Given the description of an element on the screen output the (x, y) to click on. 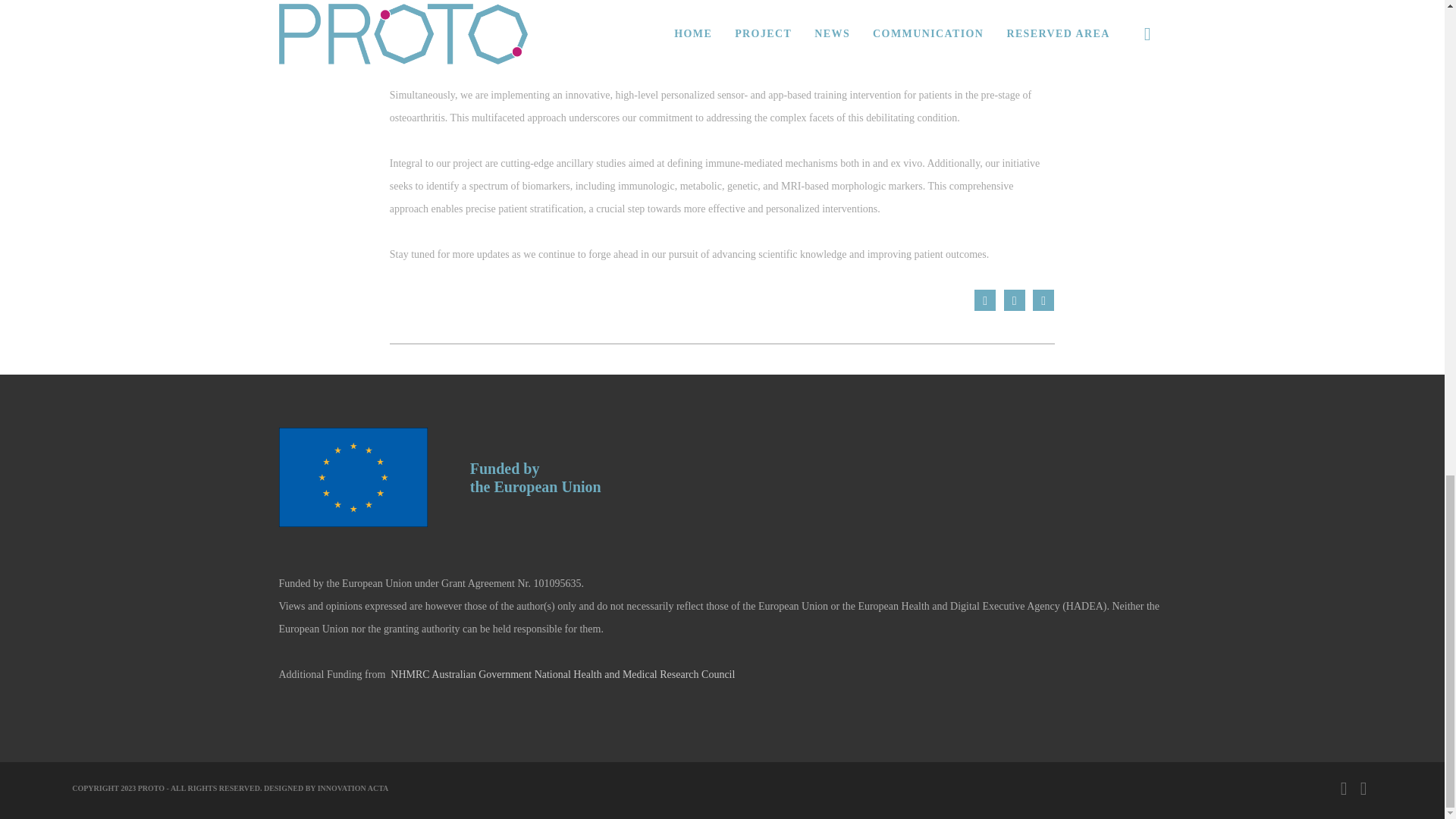
INNOVATION ACTA (352, 787)
First Annual meeting (1014, 300)
First Annual meeting (1043, 300)
First Annual meeting (984, 300)
